Given the description of an element on the screen output the (x, y) to click on. 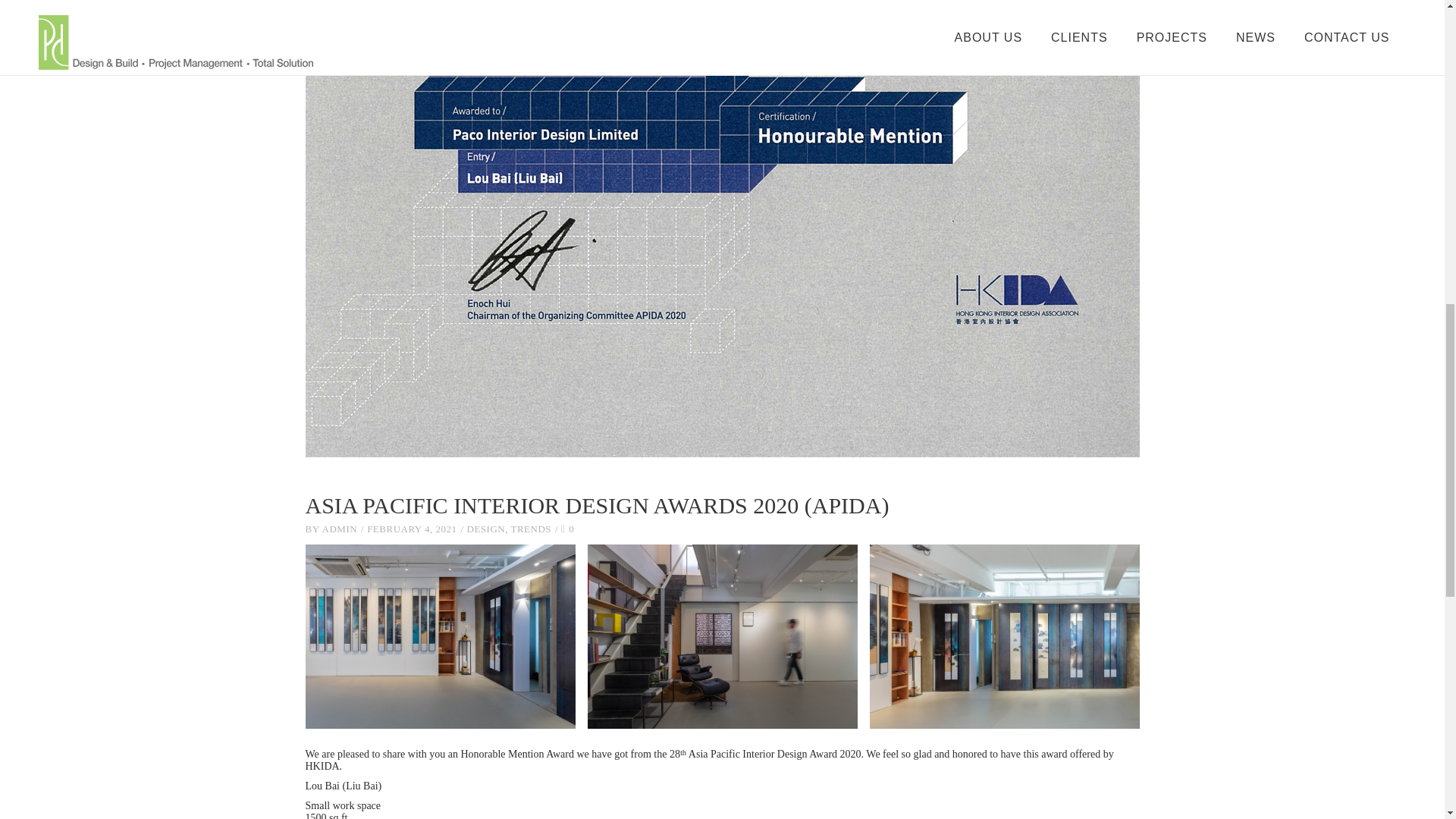
Like this (566, 528)
